Given the description of an element on the screen output the (x, y) to click on. 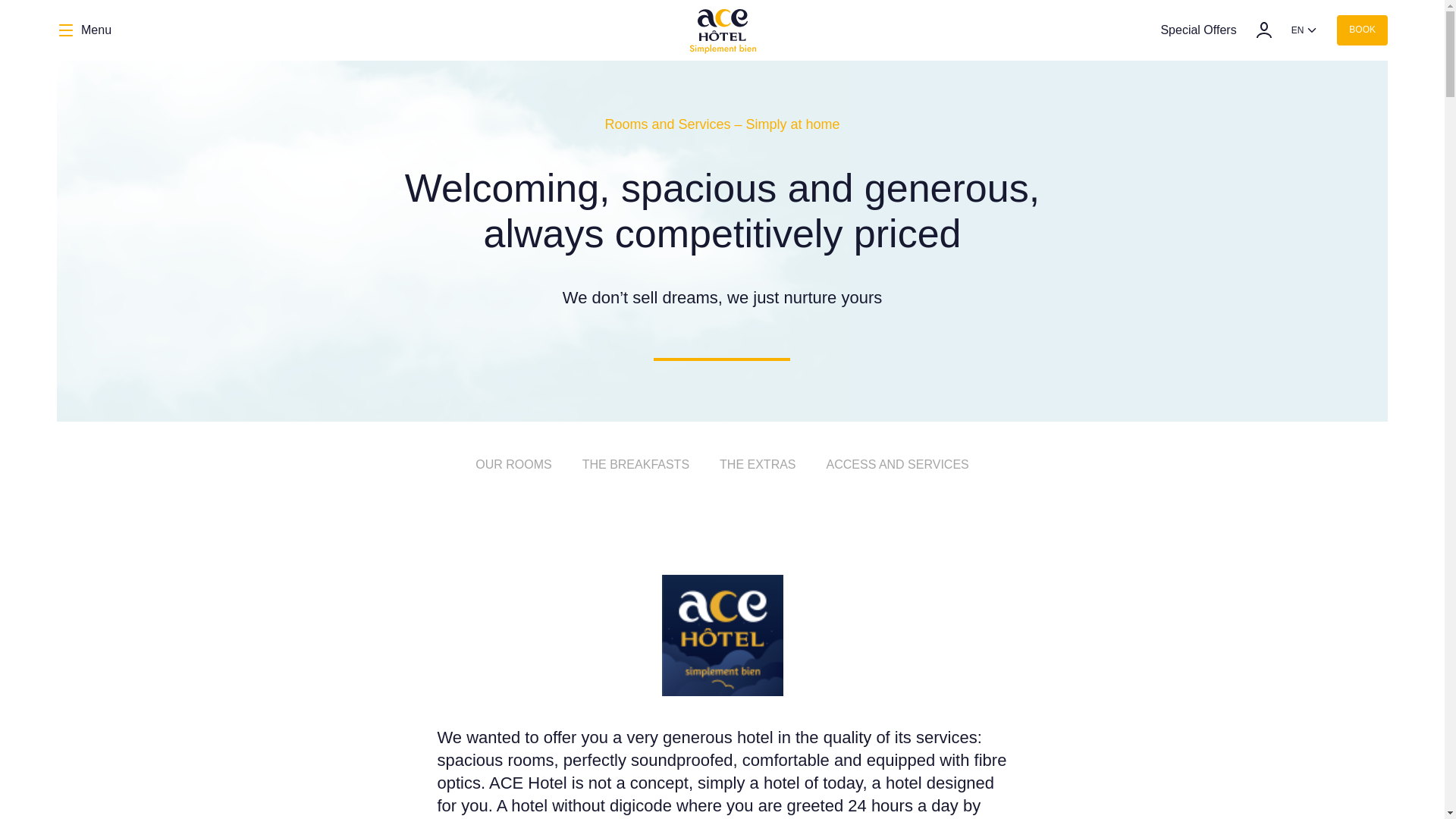
THE EXTRAS (756, 464)
THE BREAKFASTS (635, 464)
Special Offers (1198, 30)
Menu (84, 30)
ACCESS AND SERVICES (898, 464)
BOOK (1361, 30)
OUR ROOMS (513, 464)
